Given the description of an element on the screen output the (x, y) to click on. 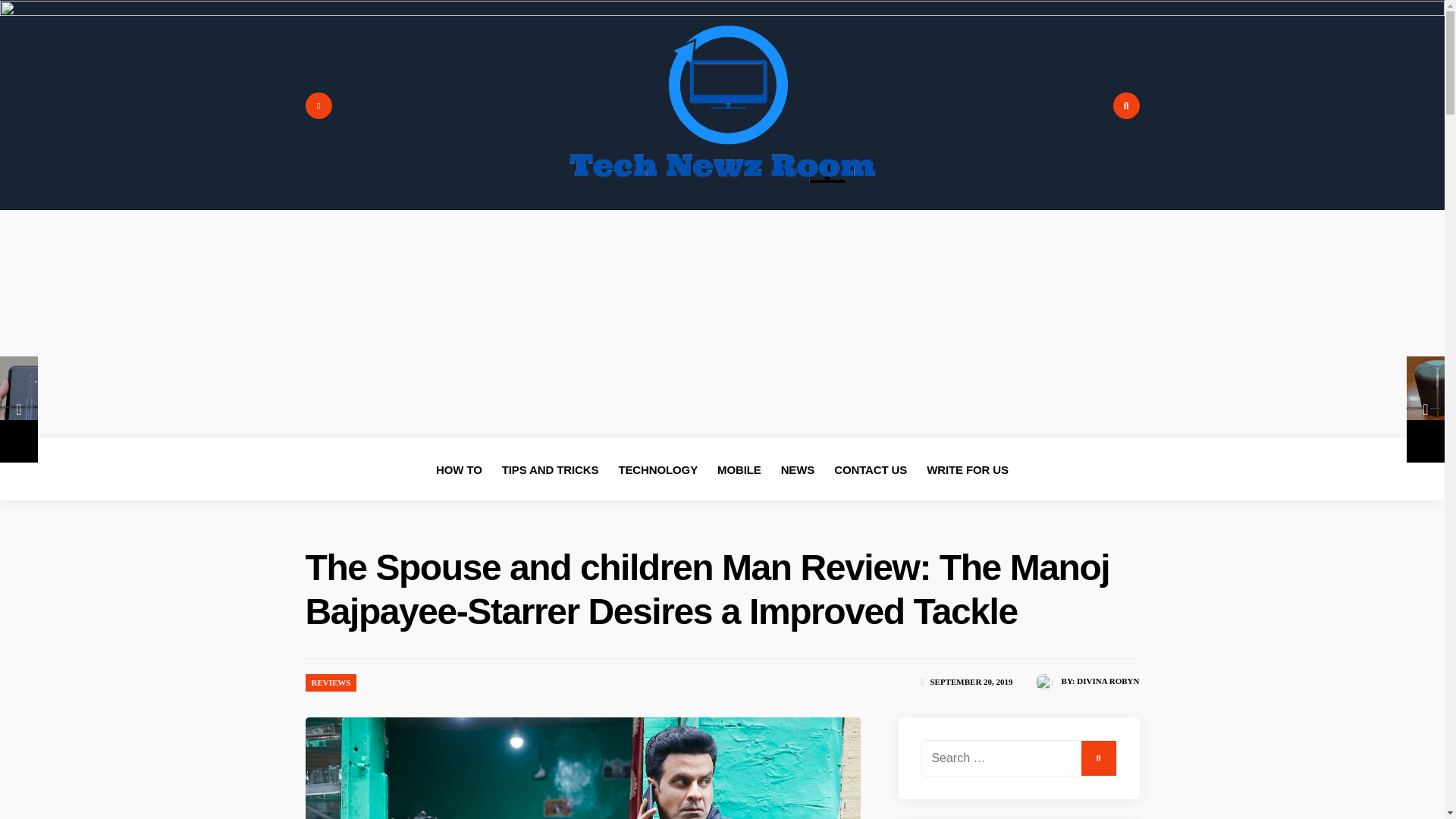
HOW TO (458, 469)
TECHNOLOGY (657, 469)
Posts by Divina Robyn (1107, 680)
DIVINA ROBYN (1107, 680)
REVIEWS (330, 682)
WRITE FOR US (967, 469)
NEWS (797, 469)
MOBILE (739, 469)
TIPS AND TRICKS (551, 469)
CONTACT US (870, 469)
